Given the description of an element on the screen output the (x, y) to click on. 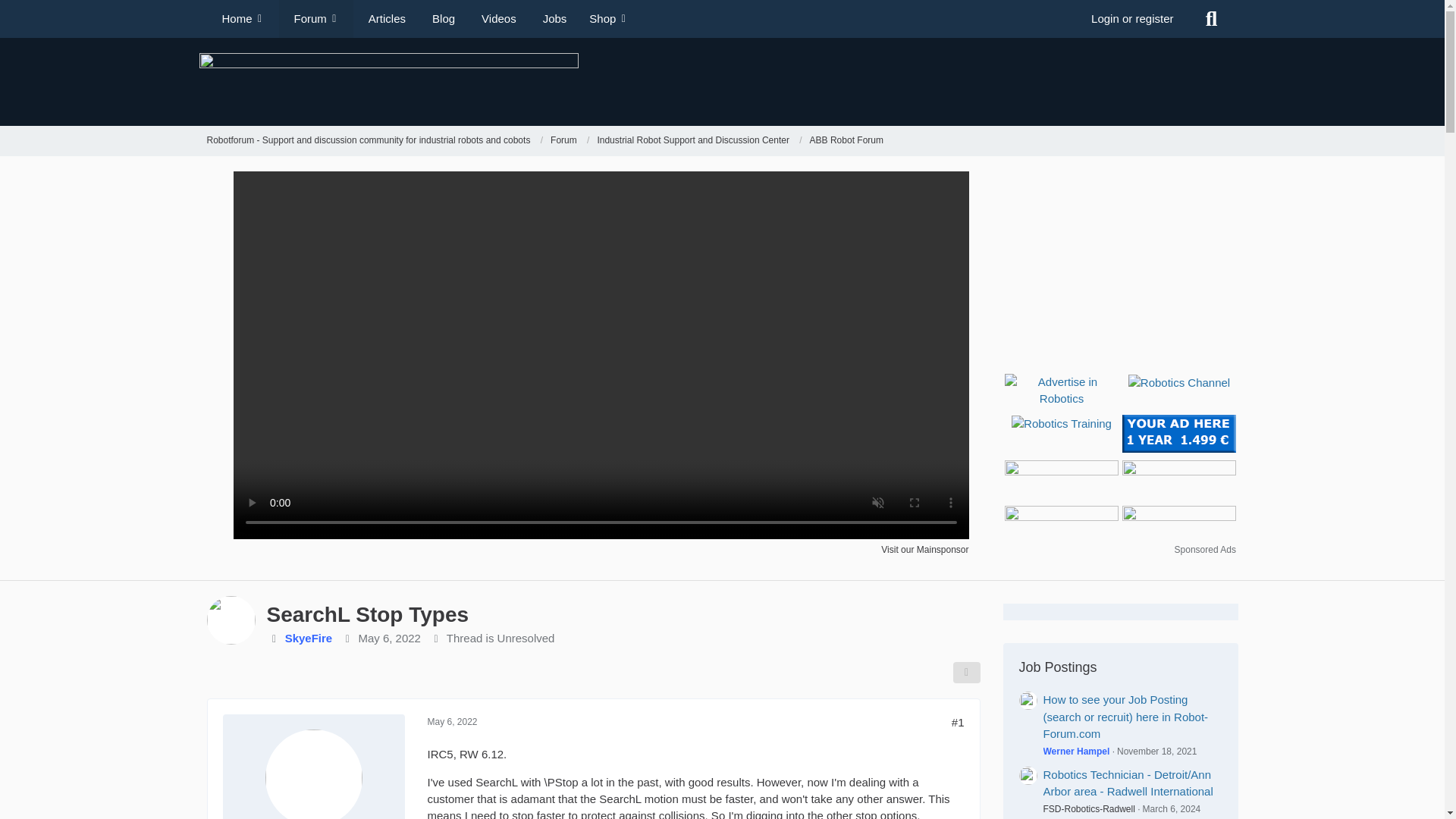
Login or register (1132, 18)
Industrial Robot Support and Discussion Center (699, 141)
Forum (563, 141)
Forum (569, 141)
Articles (384, 18)
ABB Robot Forum (846, 141)
Industrial Robot Support and Discussion Center (692, 141)
Your browser does not support videos (600, 534)
